Given the description of an element on the screen output the (x, y) to click on. 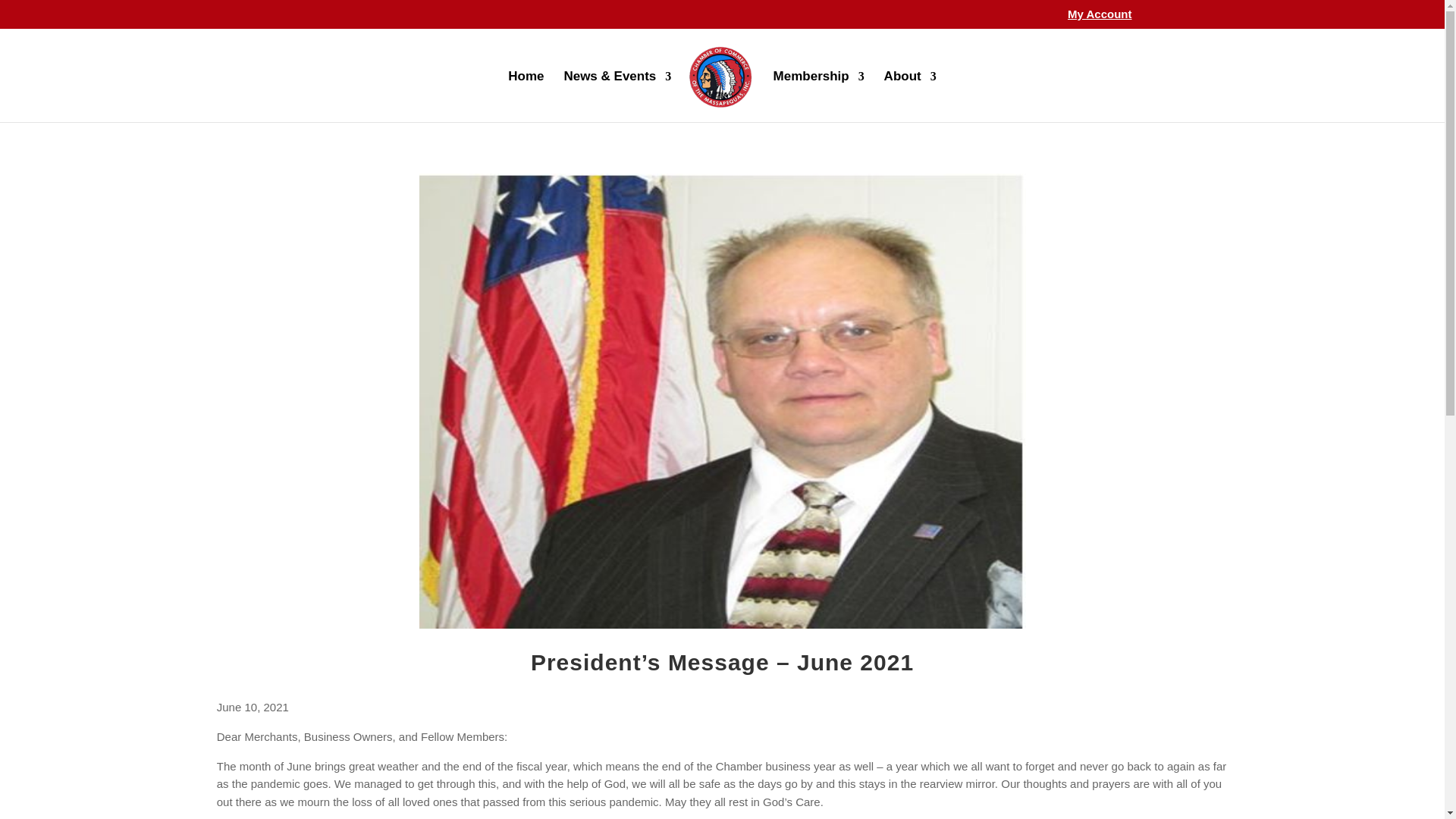
My Account (1099, 17)
About (909, 96)
Membership (818, 96)
